Given the description of an element on the screen output the (x, y) to click on. 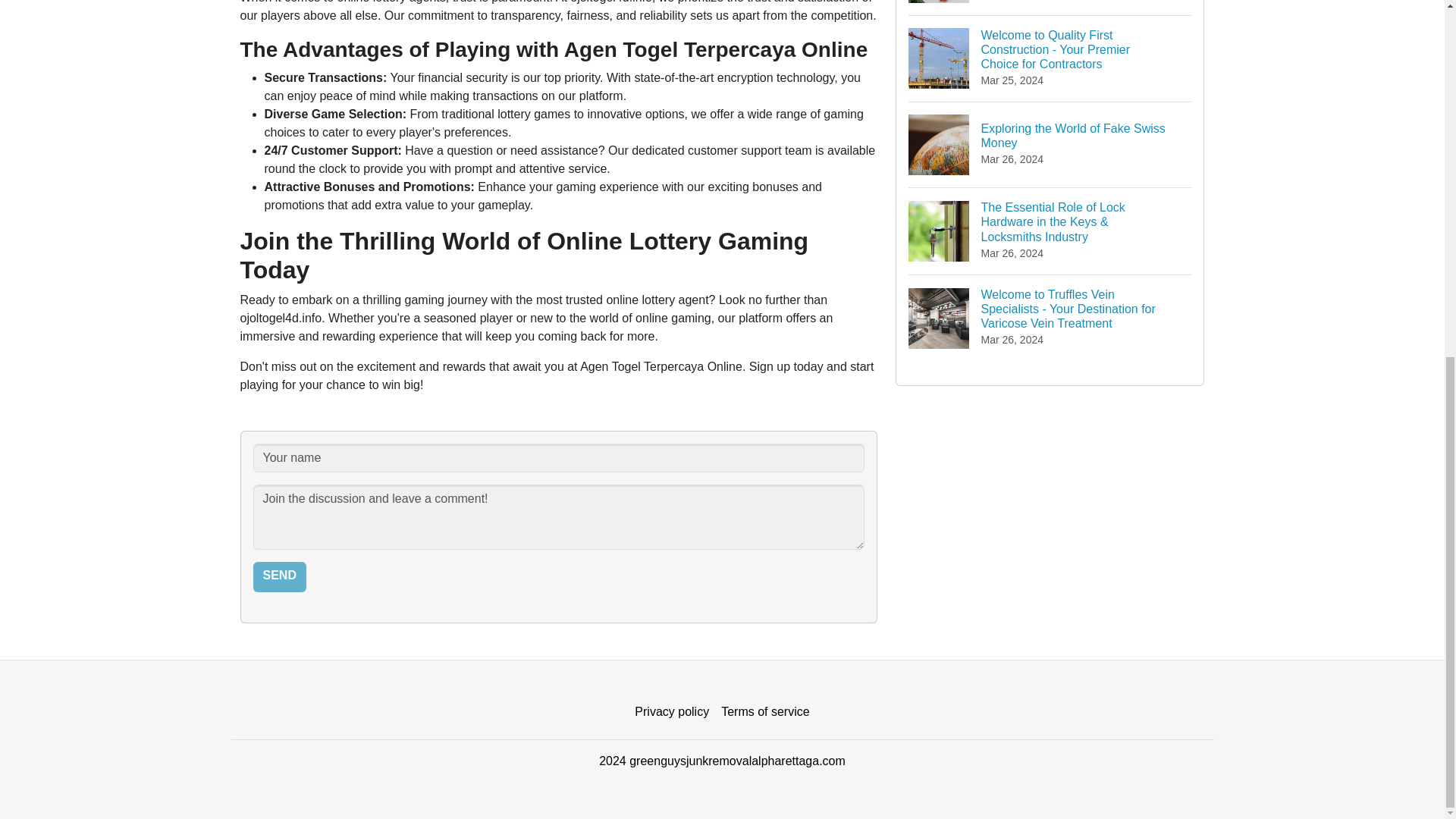
Send (1050, 144)
Send (279, 576)
Terms of service (1050, 7)
Privacy policy (279, 576)
